Given the description of an element on the screen output the (x, y) to click on. 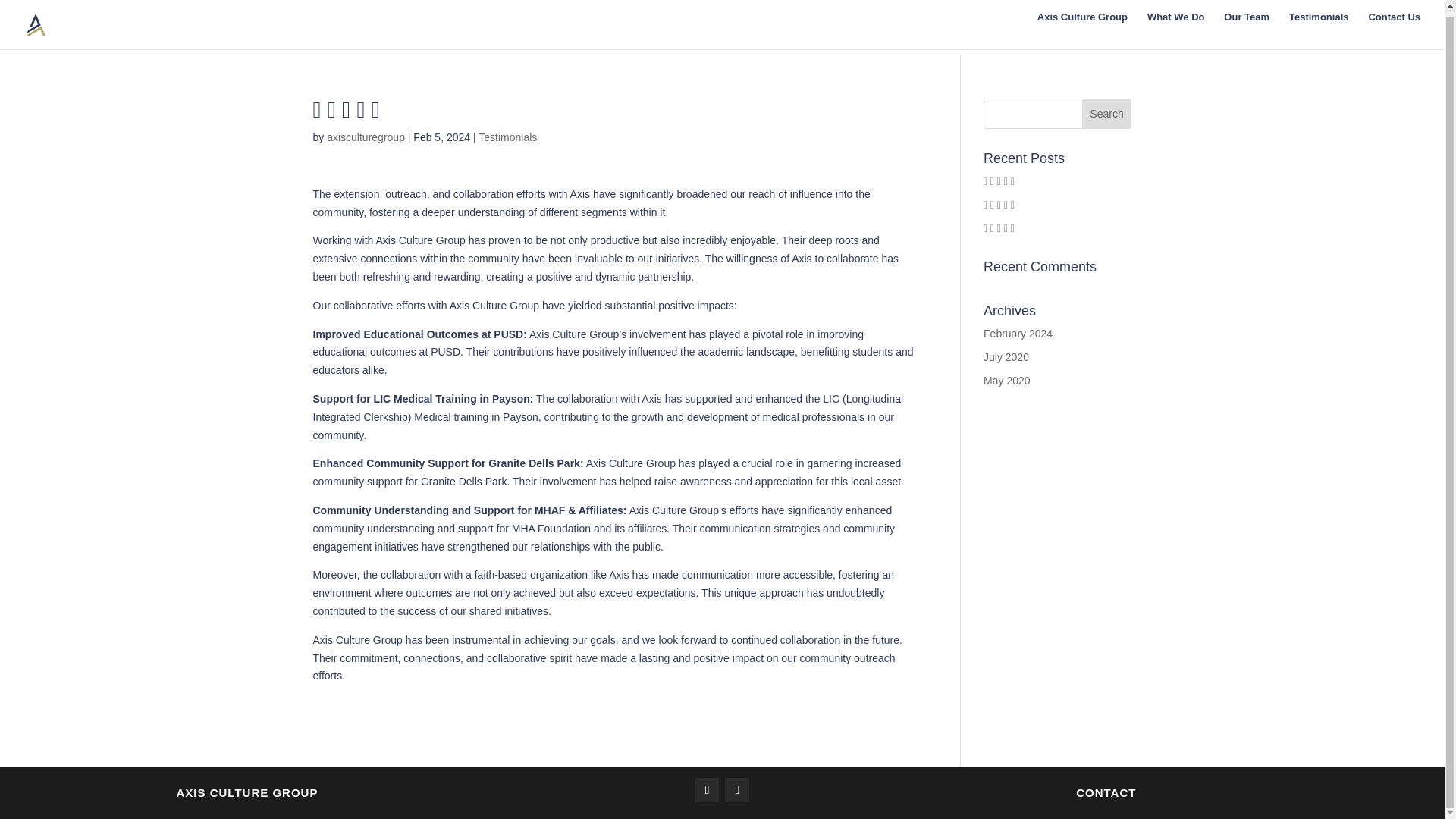
CONTACT (1105, 793)
Axis Culture Group (1081, 24)
Contact Us (1394, 24)
Posts by axisculturegroup (365, 137)
Our Team (1246, 24)
May 2020 (1006, 380)
Follow on Instagram (706, 790)
February 2024 (1018, 333)
Follow on LinkedIn (737, 790)
Search (1106, 113)
